Given the description of an element on the screen output the (x, y) to click on. 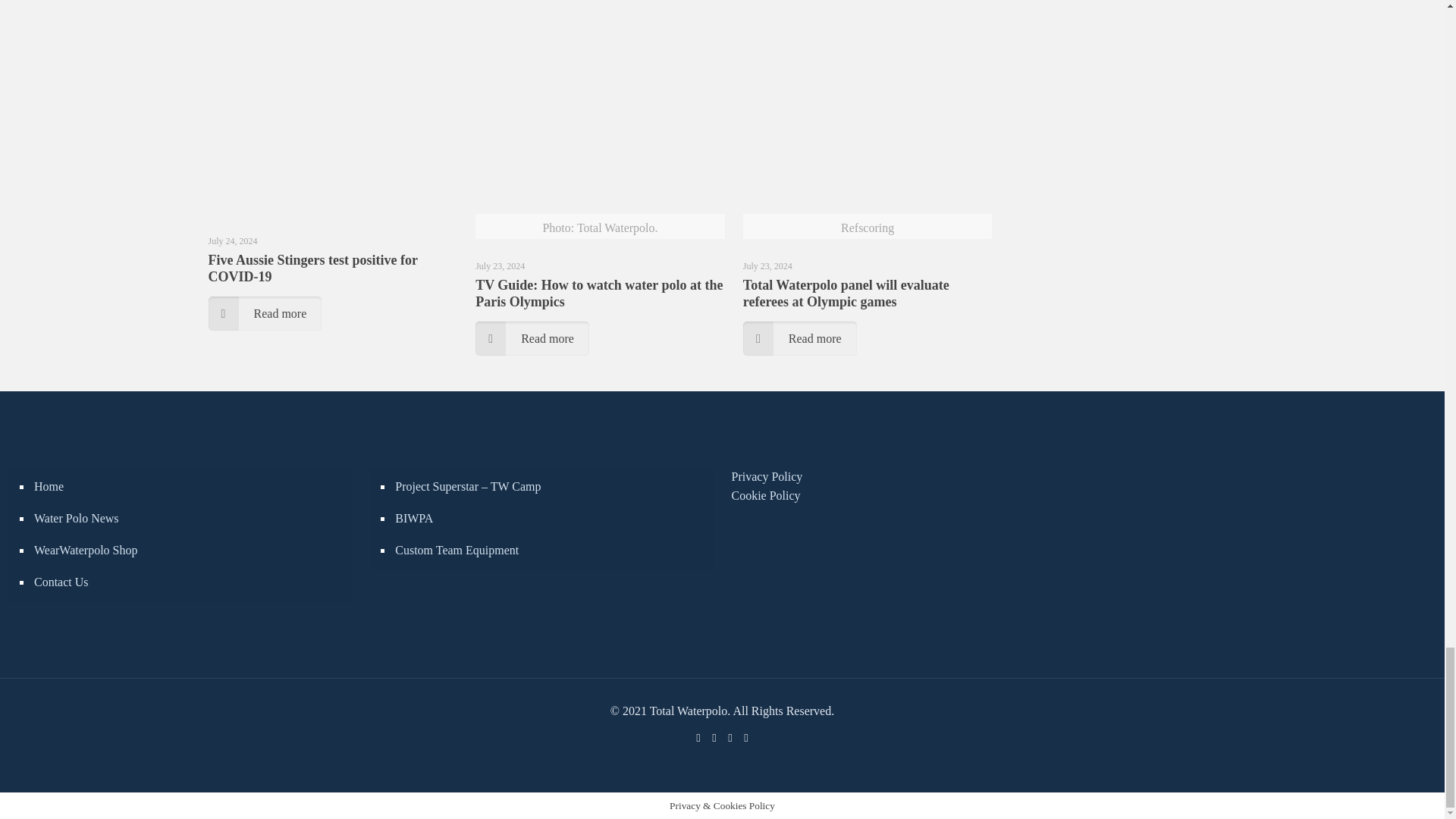
Privacy Policy  (766, 476)
LinkedIn (730, 737)
Cookie Policy  (764, 495)
Instagram (745, 737)
Facebook (698, 737)
